Given the description of an element on the screen output the (x, y) to click on. 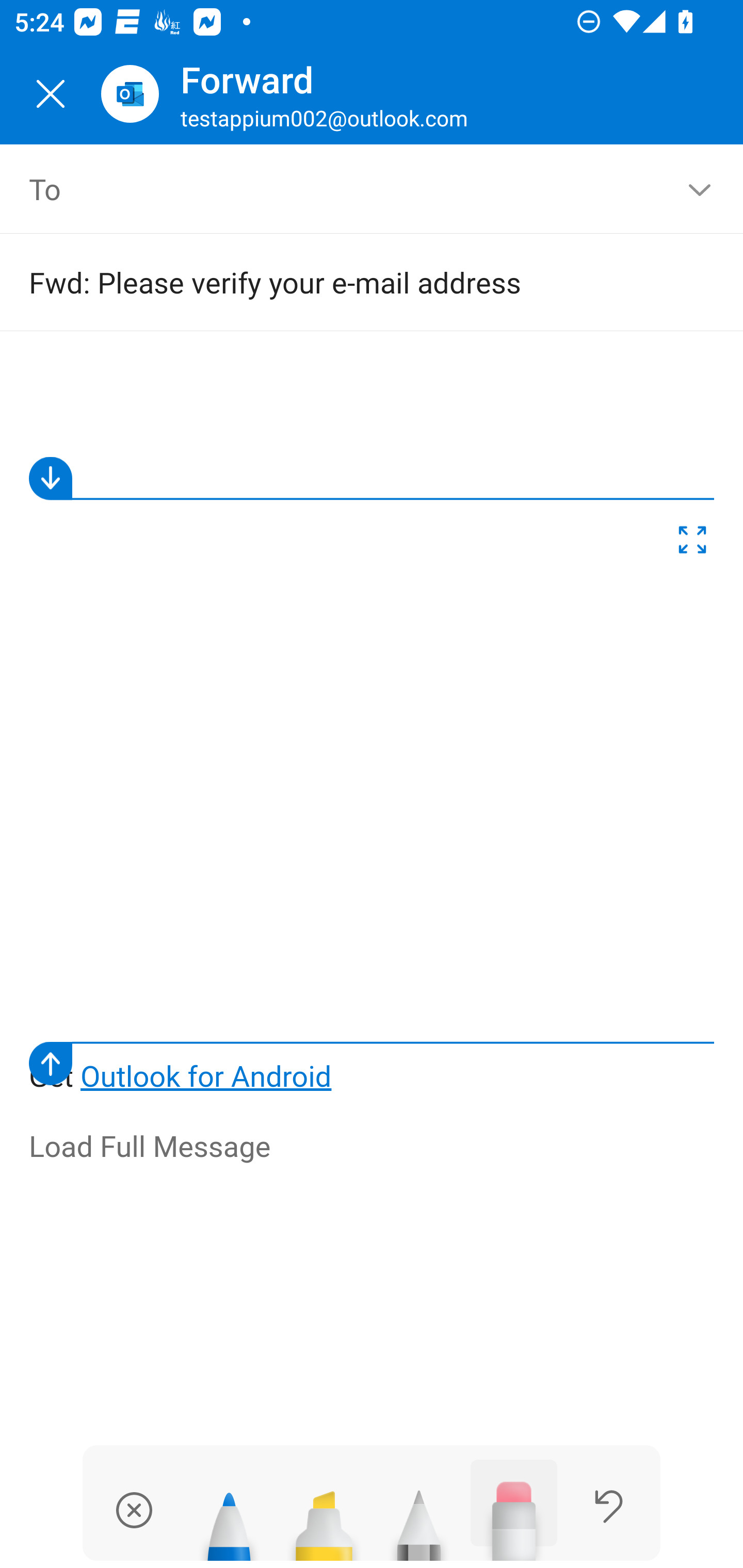
Close (50, 93)
Fwd: Please verify your e-mail address (342, 281)
Canvas upper bound (371, 478)
Expand Drawing (692, 544)
Canvas Lower Bound (371, 1063)
Load Full Message (372, 1146)
Eraser tool (513, 1509)
Undo last stroke (608, 1505)
dismiss ink and save drawing (133, 1510)
Pen tool (228, 1517)
Highlighter tool (323, 1517)
Pencil tool (418, 1517)
